Given the description of an element on the screen output the (x, y) to click on. 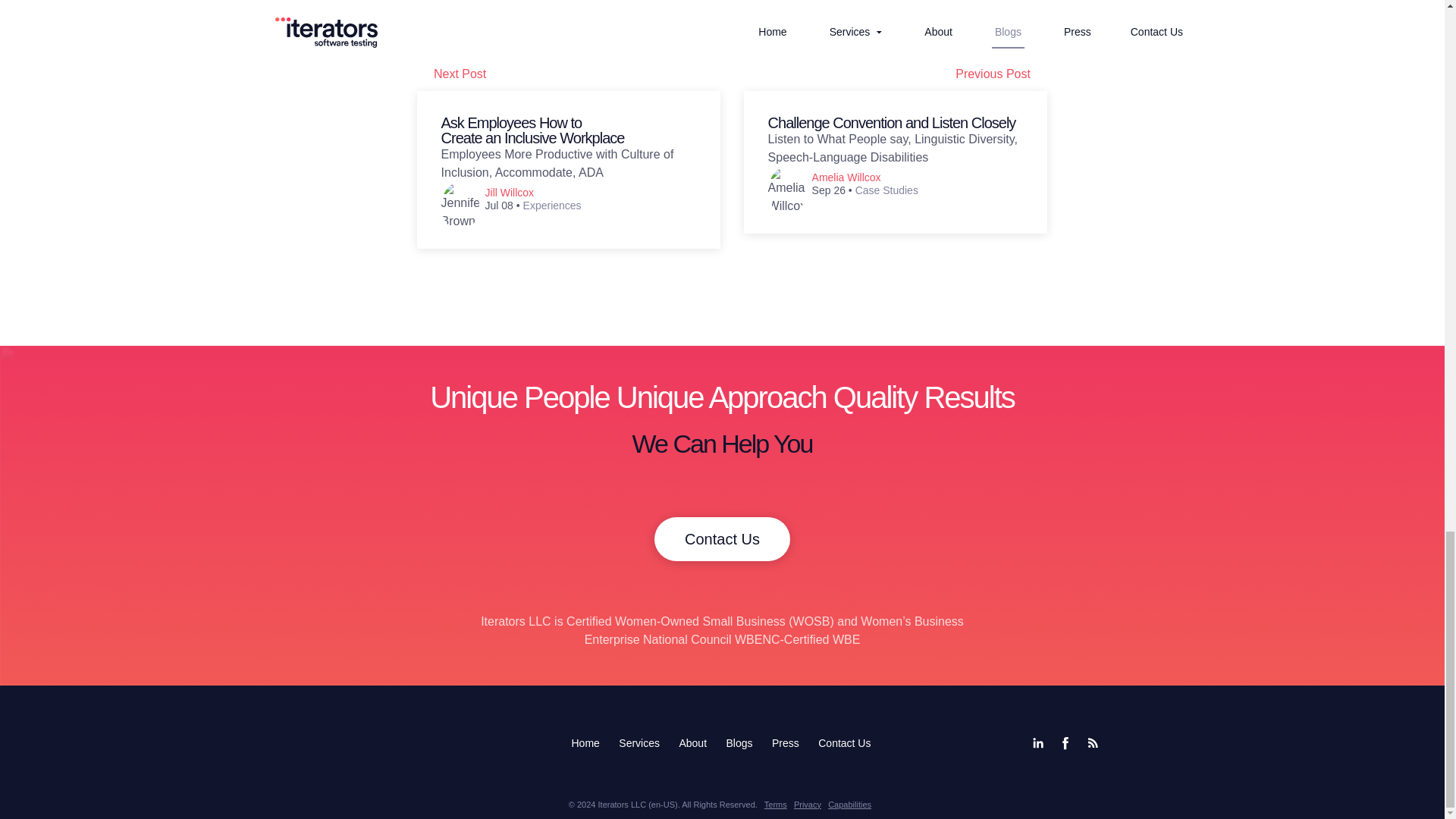
Jill Willcox (509, 192)
Challenge Convention and Listen Closely (892, 122)
Ask Employees How to Create an Inclusive Workplace (532, 130)
Previous Post (1000, 73)
Next Post (568, 73)
Experiences (551, 205)
